Given the description of an element on the screen output the (x, y) to click on. 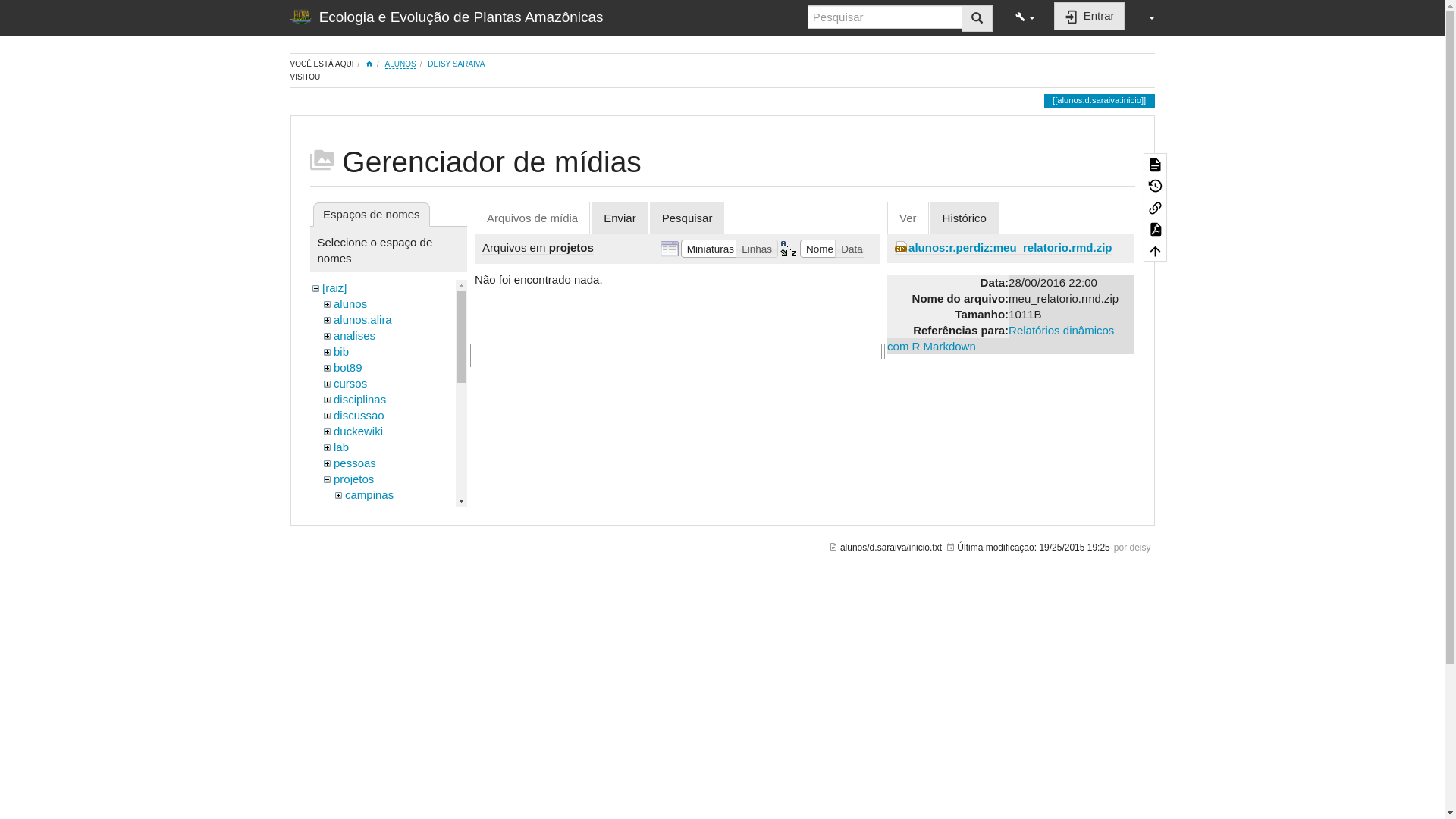
campinas Element type: text (369, 494)
mocidade Element type: text (369, 589)
alunos.alira Element type: text (362, 319)
lab Element type: text (340, 446)
undefined Element type: text (358, 749)
bib Element type: text (340, 351)
inicio Element type: hover (369, 63)
Pesquisar Element type: text (686, 217)
rscripts Element type: text (351, 733)
ALUNOS Element type: text (400, 64)
nir Element type: text (351, 621)
yam Element type: text (355, 669)
ctfs Element type: text (353, 510)
DEISY SARAIVA Element type: text (455, 63)
reservaducke Element type: text (367, 717)
lba Element type: text (352, 573)
publico Element type: text (351, 685)
cursos Element type: text (350, 382)
Export to PDF Element type: hover (1154, 229)
nebediv Element type: text (365, 605)
Pesquisar Element type: hover (976, 18)
Ver Element type: text (907, 217)
Entrar Element type: text (1088, 16)
projetos Element type: text (353, 478)
sgc Element type: text (353, 653)
alunos:r.perdiz:meu_relatorio.rmd.zip Element type: text (1002, 247)
bot89 Element type: text (347, 366)
[raiz] Element type: text (334, 287)
fva Element type: text (352, 526)
pessoas Element type: text (354, 462)
Enviar Element type: text (619, 217)
Links reversos Element type: hover (1154, 207)
Voltar ao topo [t] Element type: hover (1154, 250)
pdbff Element type: text (357, 637)
ifn Element type: text (351, 542)
refnotes Element type: text (353, 701)
analises Element type: text (354, 335)
[F] Element type: hover (884, 16)
wikiflora Element type: text (353, 781)
disciplinas Element type: text (359, 398)
alunos Element type: text (350, 303)
wiki Element type: text (342, 765)
lauraceae Element type: text (370, 558)
discussao Element type: text (358, 414)
duckewiki Element type: text (357, 430)
